Given the description of an element on the screen output the (x, y) to click on. 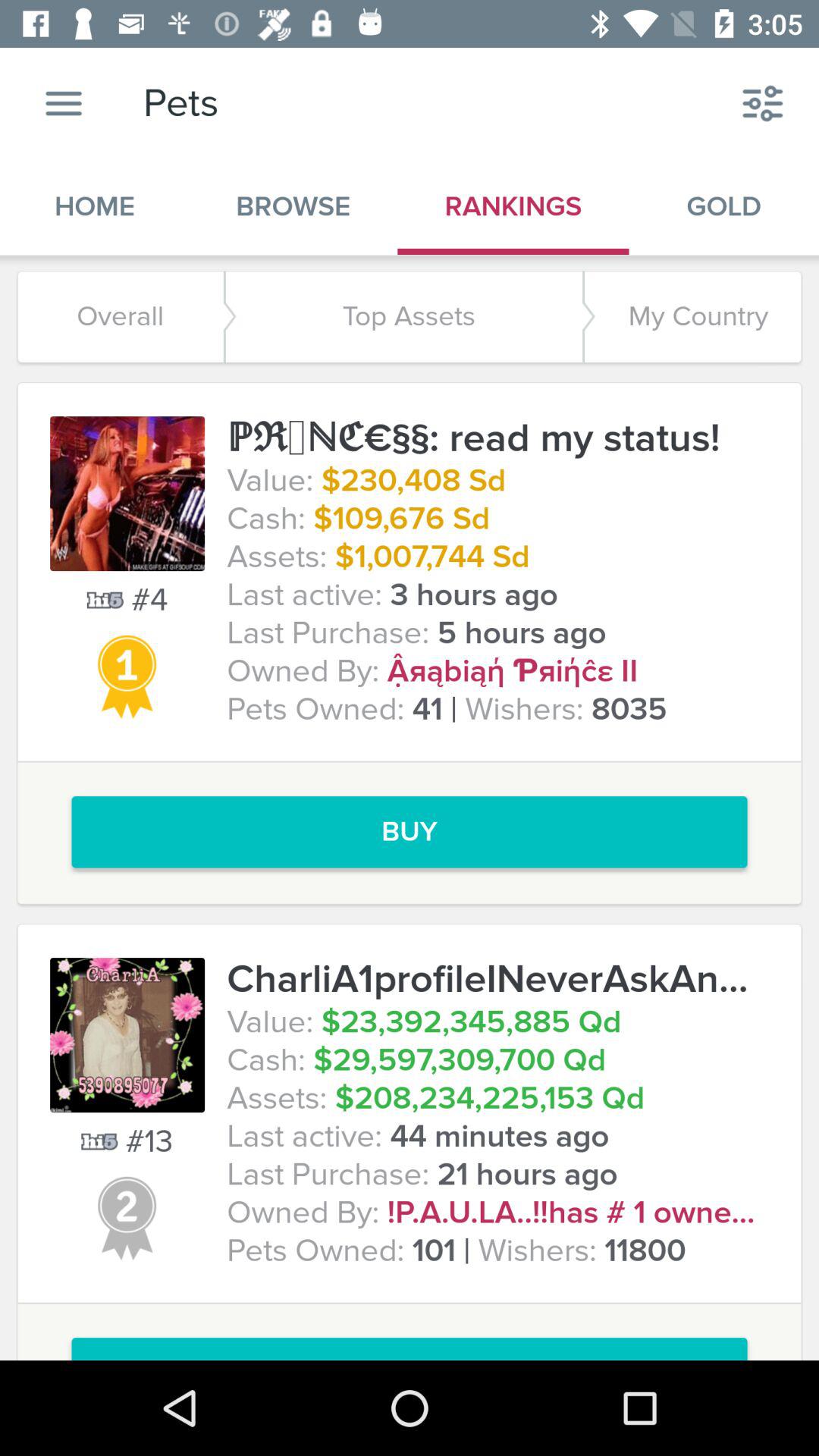
access menu options (63, 103)
